Given the description of an element on the screen output the (x, y) to click on. 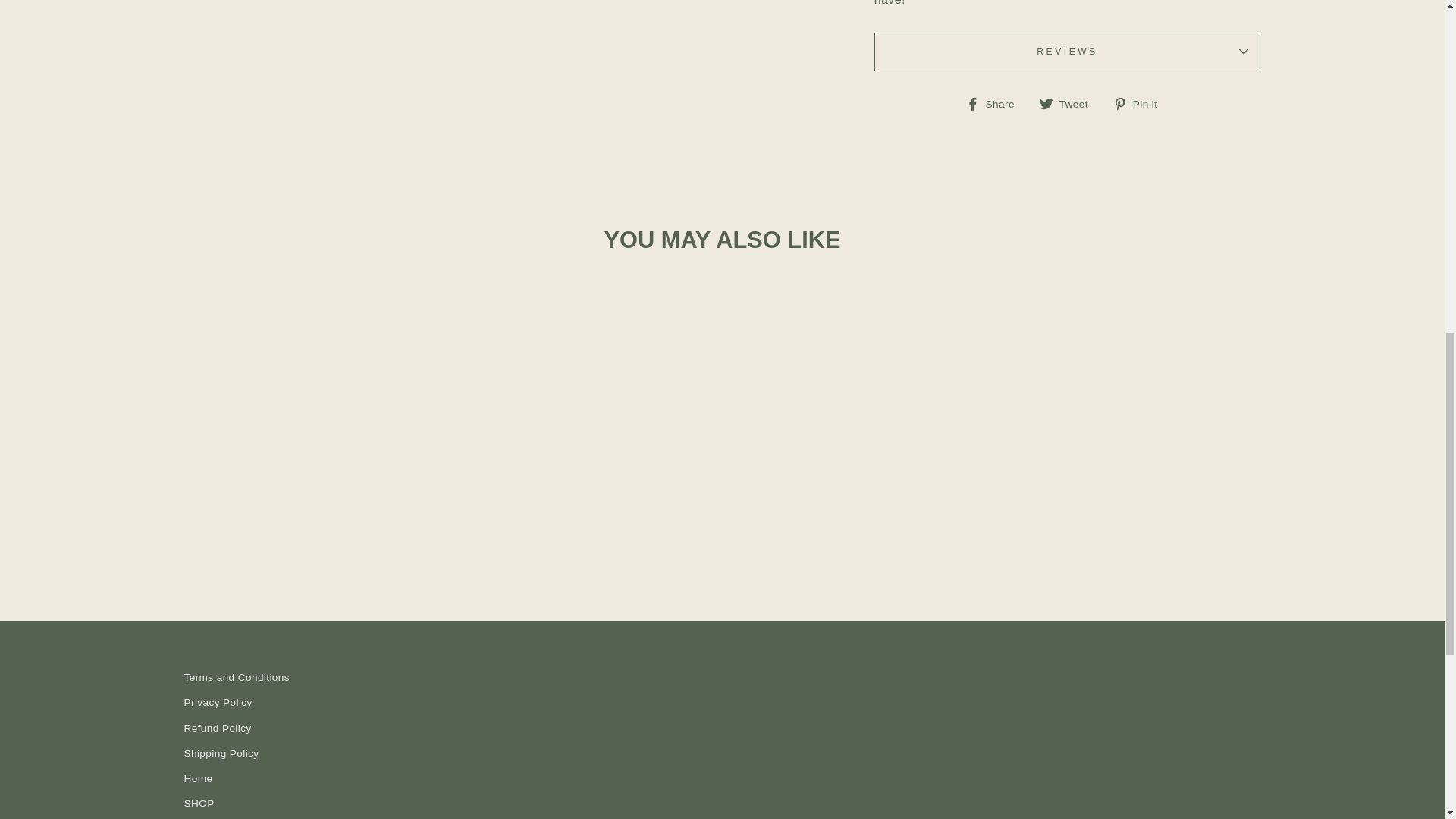
Pin on Pinterest (1141, 103)
Share on Facebook (996, 103)
Tweet on Twitter (1069, 103)
